Given the description of an element on the screen output the (x, y) to click on. 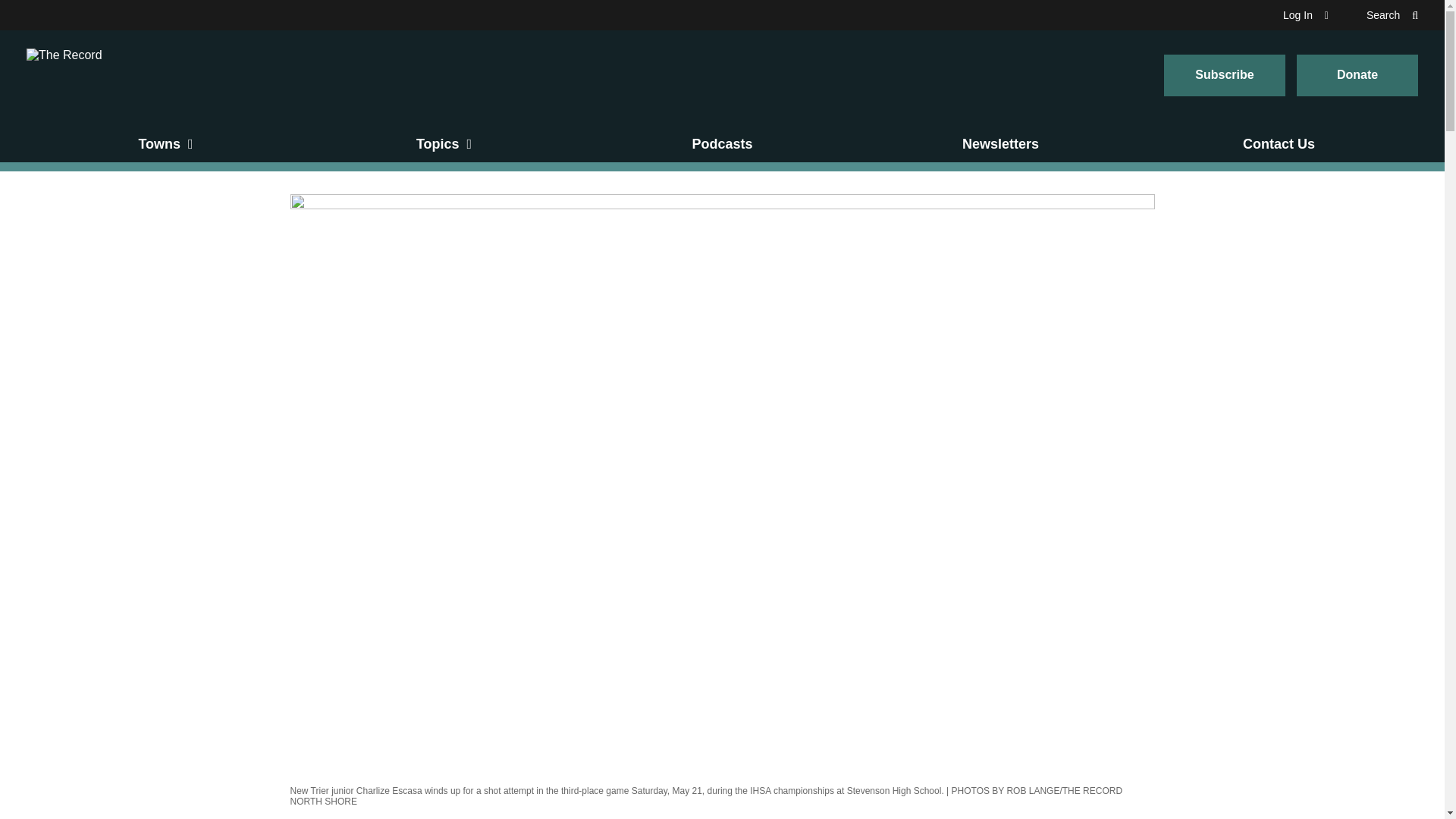
Podcasts (721, 144)
Newsletters (1000, 144)
Log In (1304, 15)
Towns (165, 144)
Donate (1357, 75)
Topics (443, 144)
The Record (63, 74)
Contact Us (1278, 144)
Subscribe (1224, 75)
